Given the description of an element on the screen output the (x, y) to click on. 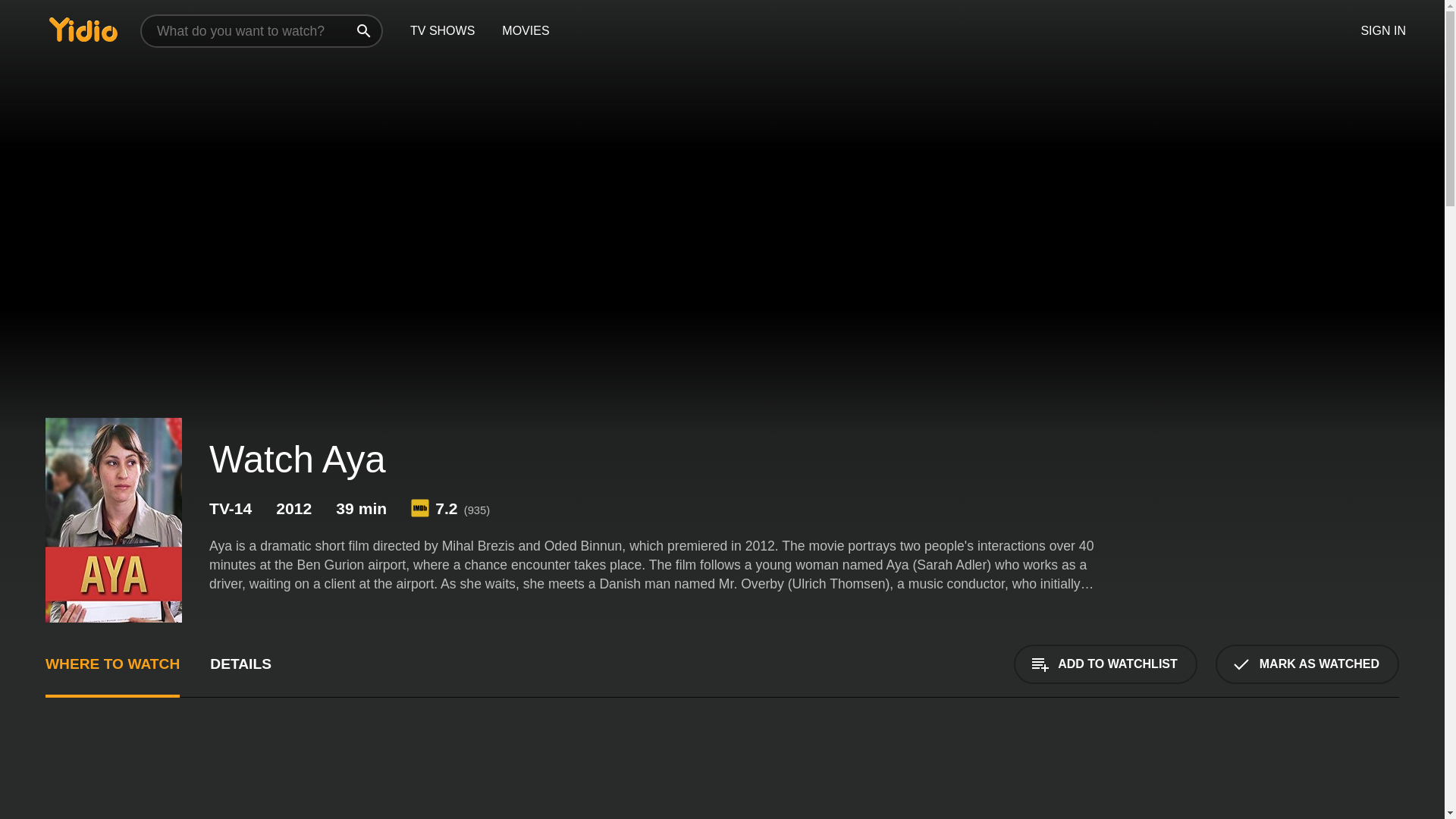
ADD TO WATCHLIST (1104, 663)
Yidio (82, 29)
TV SHOWS (441, 31)
Advertisement (221, 776)
MOVIES (524, 31)
MARK AS WATCHED (1307, 663)
Advertisement (1285, 776)
